Given the description of an element on the screen output the (x, y) to click on. 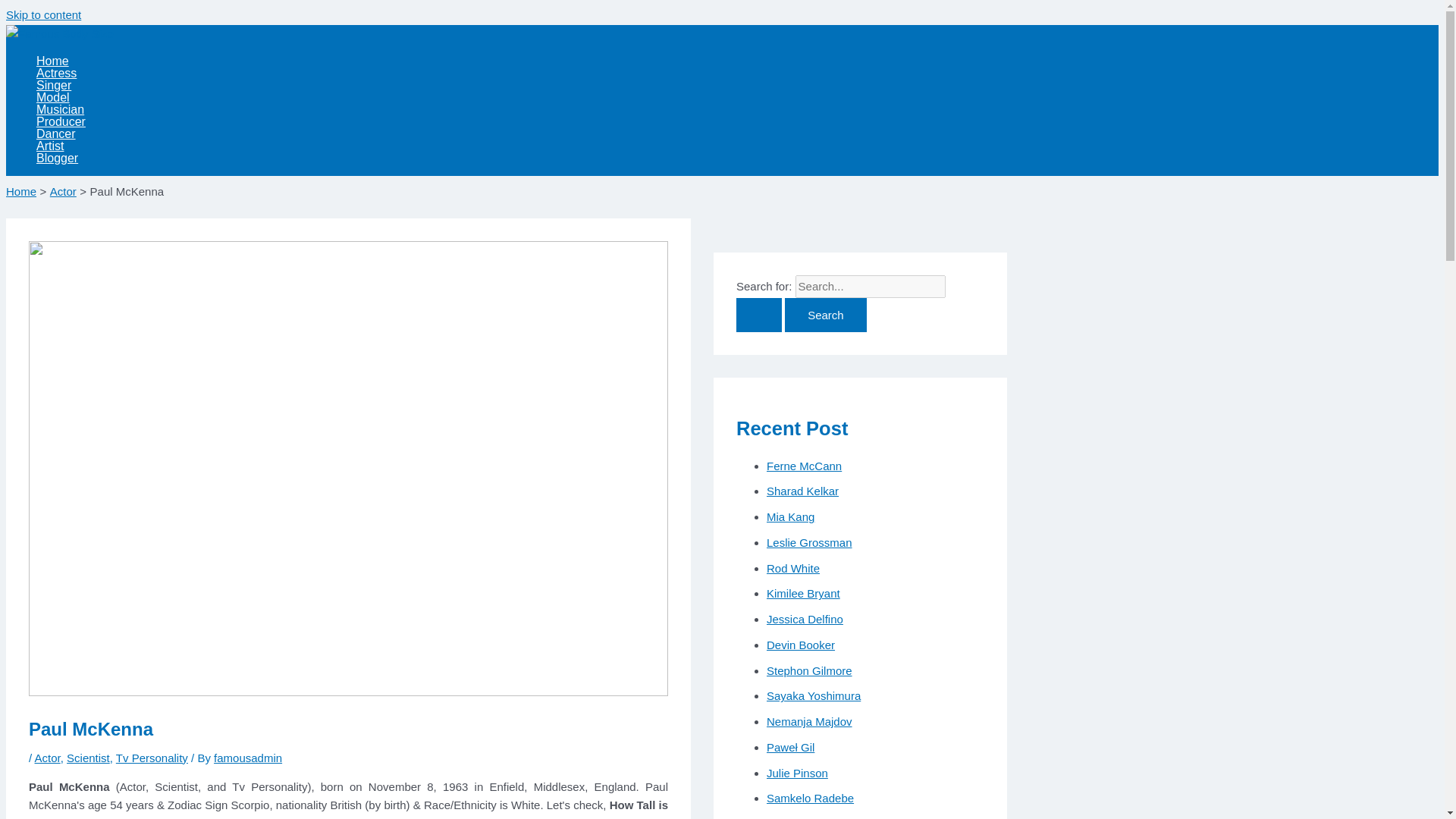
Rod White (793, 567)
Actress (60, 72)
Skip to content (43, 14)
Artist (60, 145)
Devin Booker (800, 644)
Actor (63, 191)
View all posts by famousadmin (248, 757)
Mia Kang (790, 516)
Ferne McCann (804, 465)
Home (20, 191)
Sayaka Yoshimura (813, 695)
famousadmin (248, 757)
Blogger (60, 157)
Home (60, 60)
Jessica Delfino (805, 618)
